Given the description of an element on the screen output the (x, y) to click on. 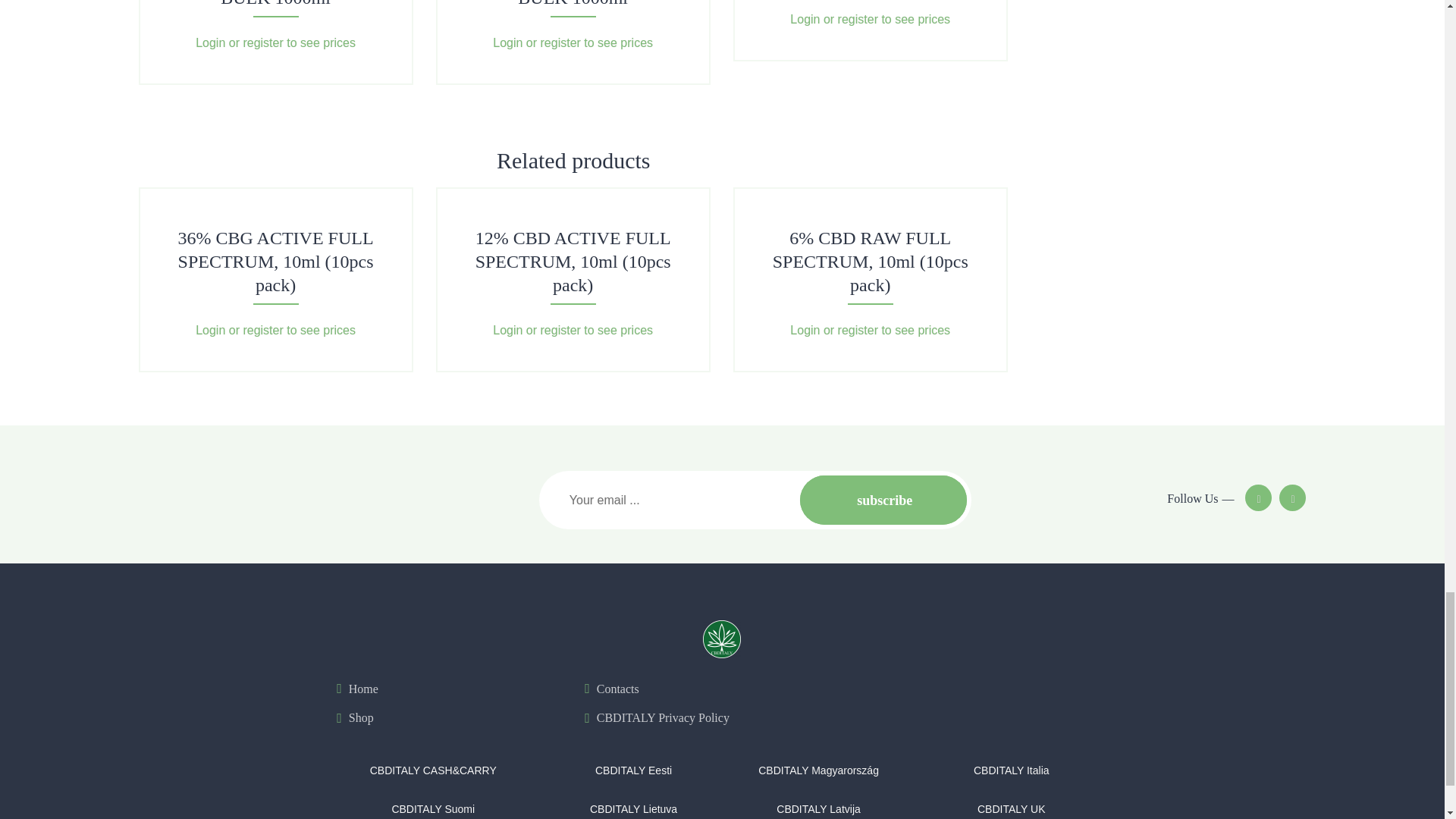
Login or register to see prices (275, 42)
Login or register to see prices (572, 42)
Login or register to see prices (870, 19)
Login or register to see prices (275, 329)
